Given the description of an element on the screen output the (x, y) to click on. 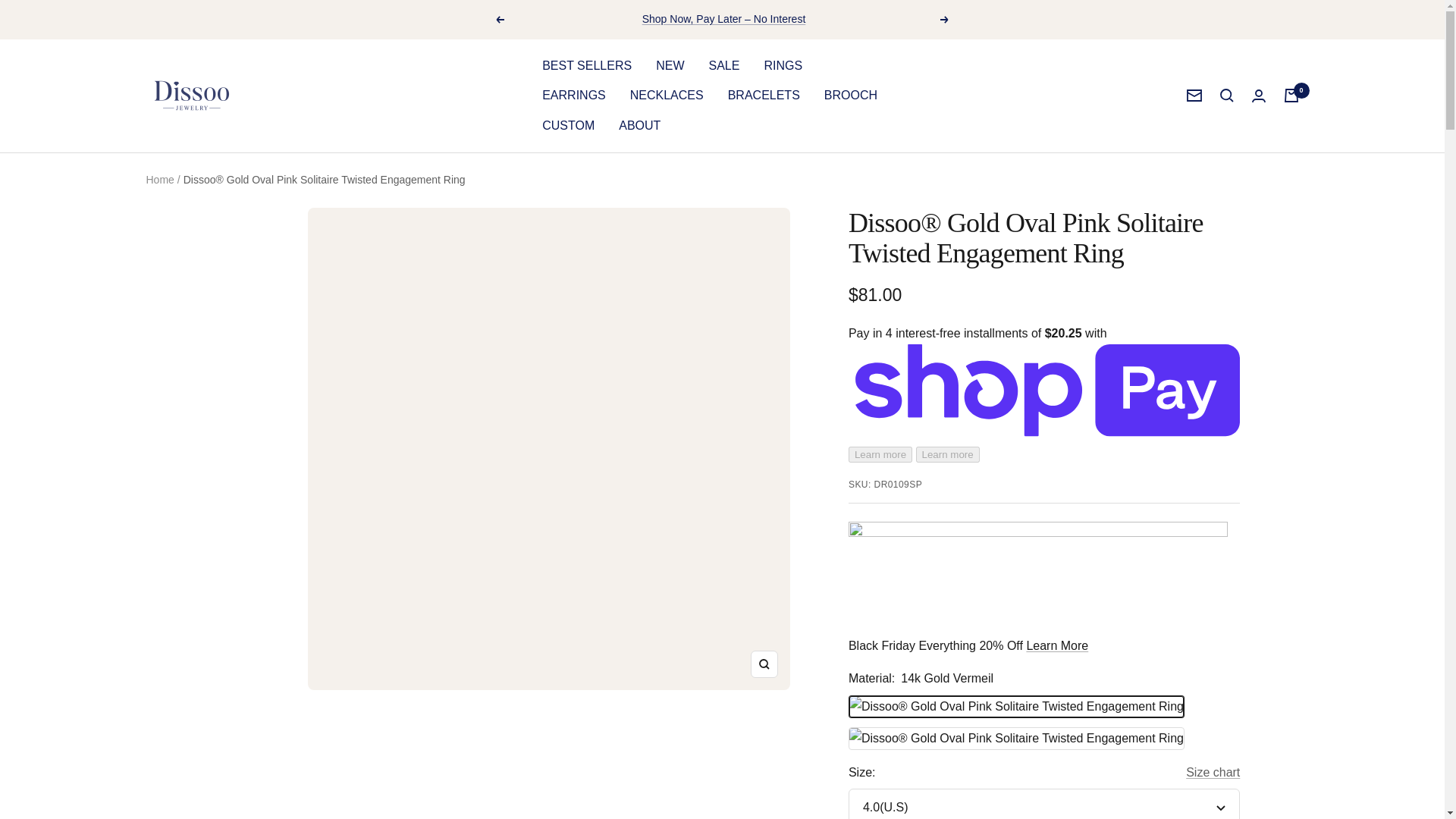
Next (944, 19)
RINGS (782, 65)
BROOCH (850, 95)
SALE (723, 65)
NEW (670, 65)
BRACELETS (763, 95)
0 (1291, 95)
NECKLACES (666, 95)
BEST SELLERS (586, 65)
Previous (499, 19)
